Given the description of an element on the screen output the (x, y) to click on. 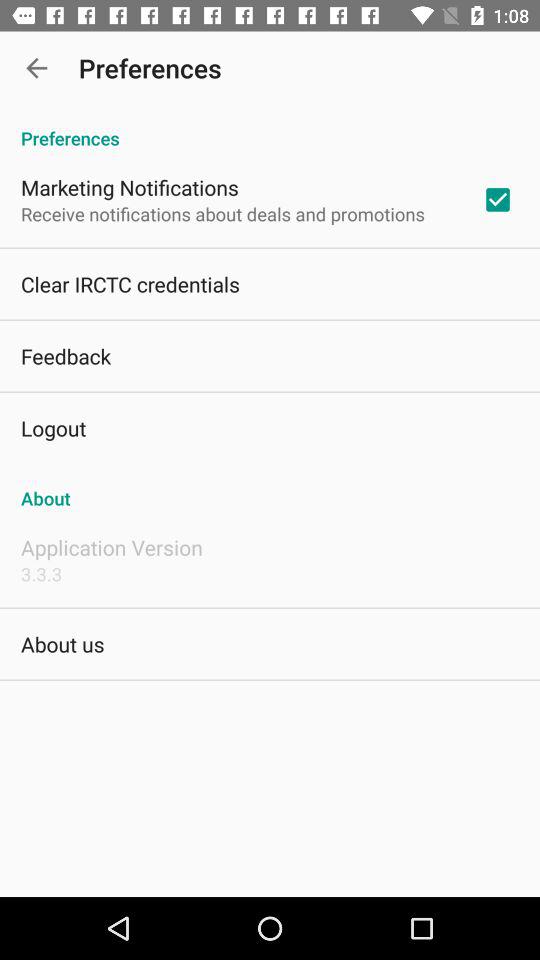
turn on item below marketing notifications icon (222, 213)
